Given the description of an element on the screen output the (x, y) to click on. 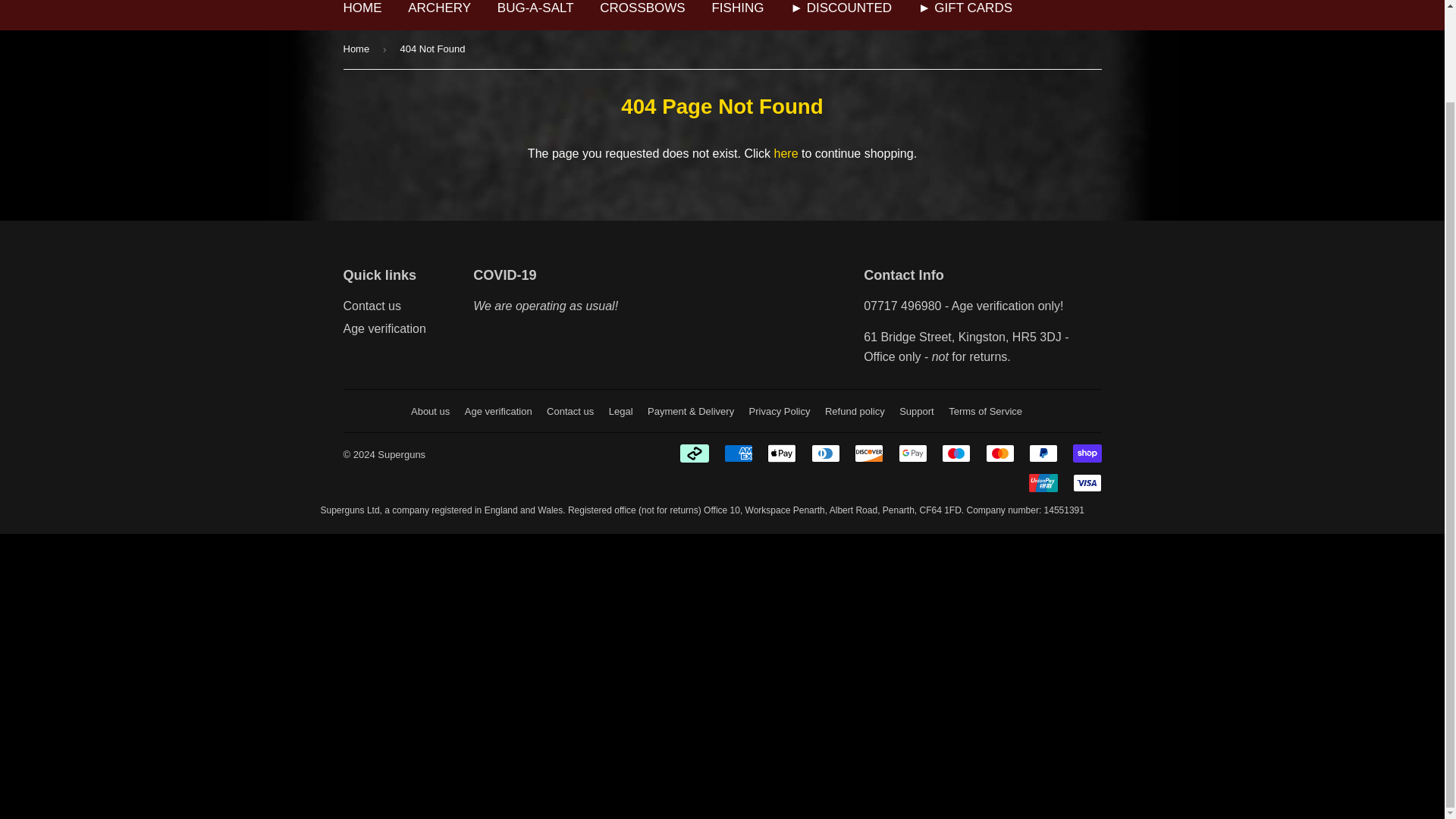
PayPal (1043, 453)
Mastercard (999, 453)
Discover (868, 453)
Maestro (956, 453)
Apple Pay (781, 453)
Union Pay (1043, 483)
Diners Club (825, 453)
American Express (737, 453)
Clearpay (694, 453)
Google Pay (912, 453)
